Given the description of an element on the screen output the (x, y) to click on. 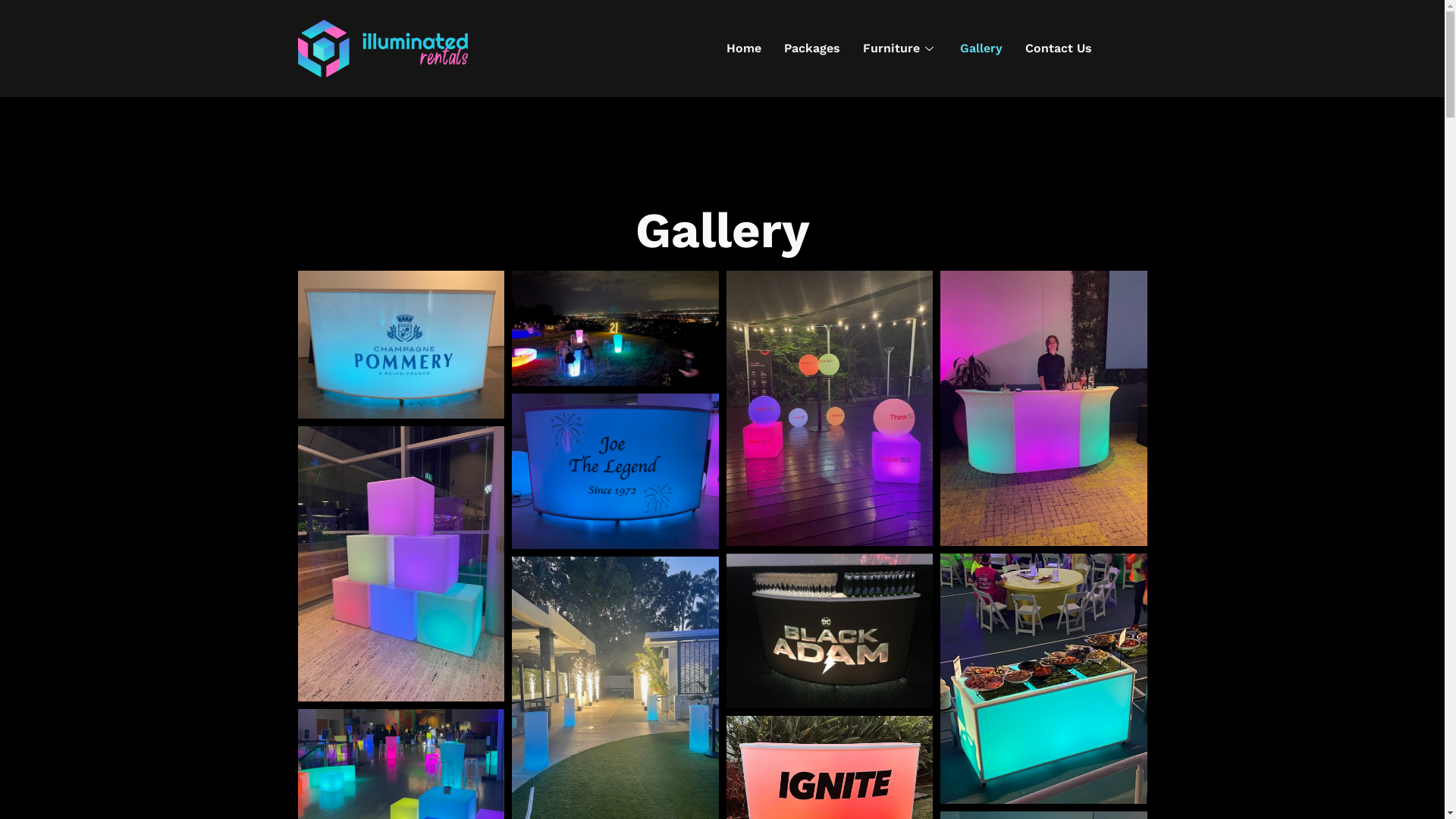
Contact Us Element type: text (1058, 48)
Gallery Element type: text (980, 48)
Furniture Element type: text (899, 48)
Packages Element type: text (811, 48)
Home Element type: text (743, 48)
